Given the description of an element on the screen output the (x, y) to click on. 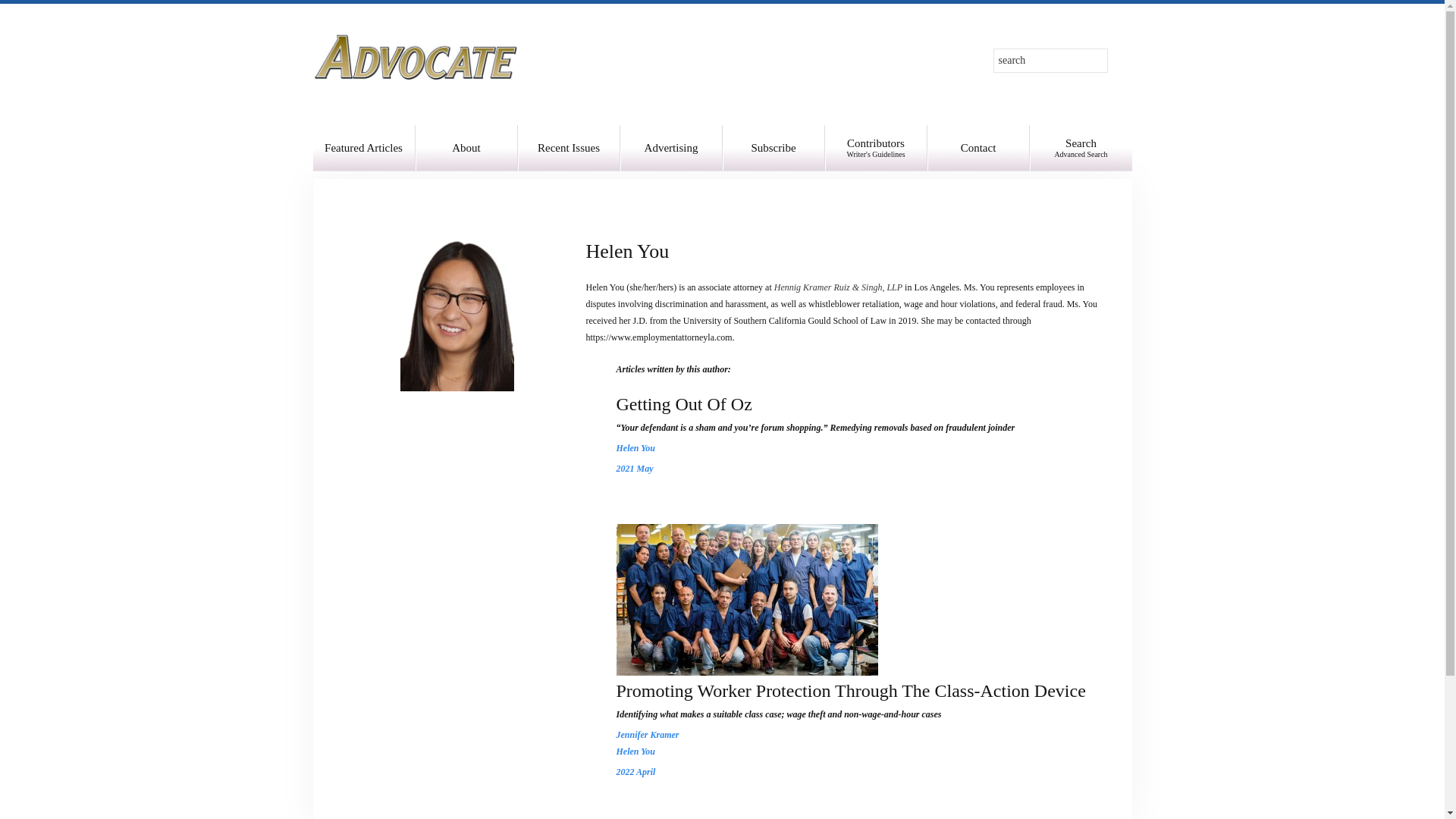
Helen You (634, 751)
Promoting worker protection through the class-action device (746, 598)
Getting out of Oz (683, 403)
Subscribe (773, 147)
Promoting Worker Protection Through The Class-Action Device (849, 690)
Promoting worker protection through the class-action device (746, 599)
Advertising (671, 147)
Helen You (634, 751)
Contact (977, 147)
Jennifer Kramer (646, 734)
Helen You (1080, 147)
Jennifer Kramer (876, 147)
2021 May (634, 448)
